Given the description of an element on the screen output the (x, y) to click on. 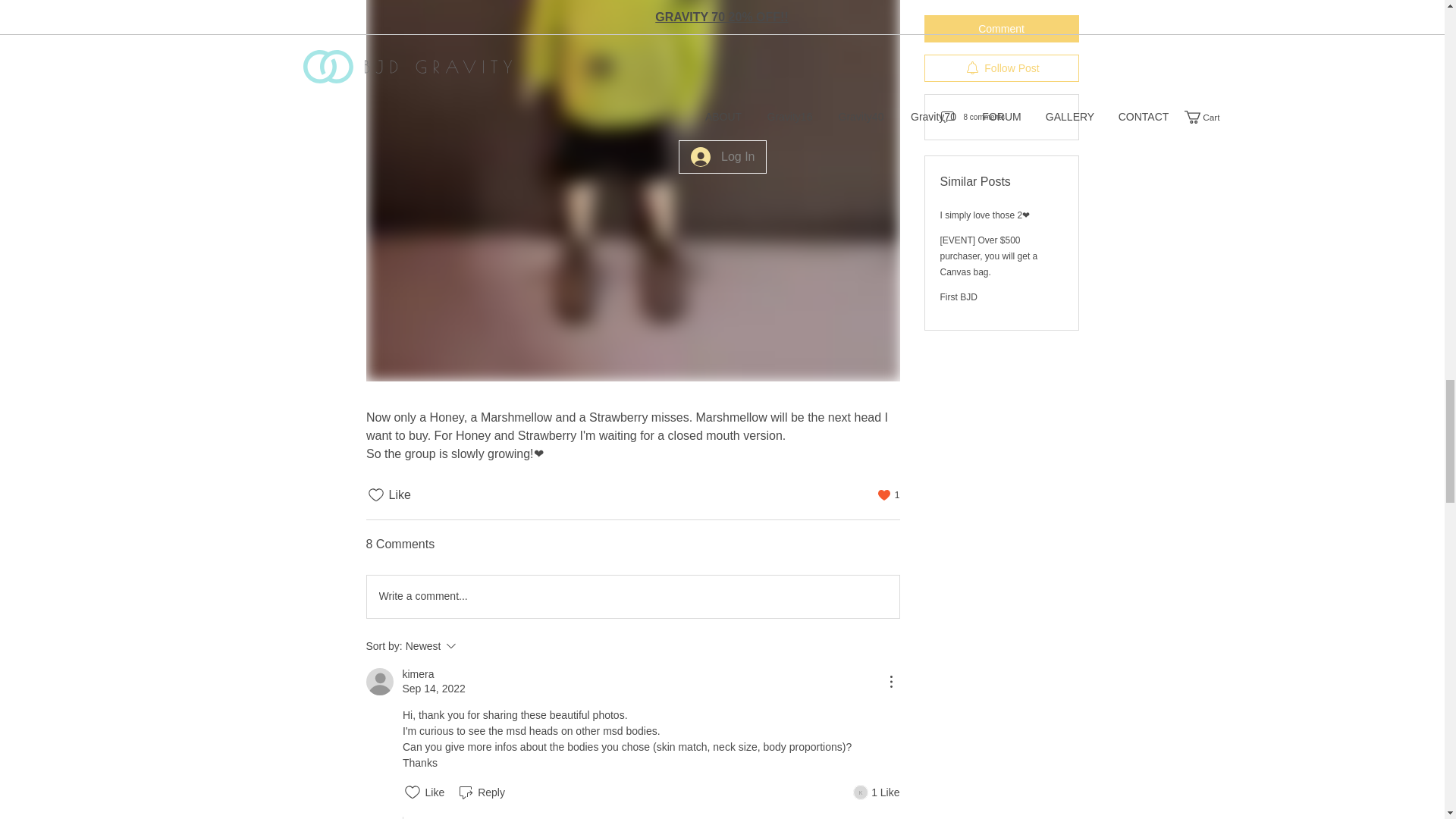
Write a comment... (632, 596)
Kiki (860, 792)
Reply (481, 791)
kimera (417, 674)
1 (888, 494)
Kiki (471, 646)
